Given the description of an element on the screen output the (x, y) to click on. 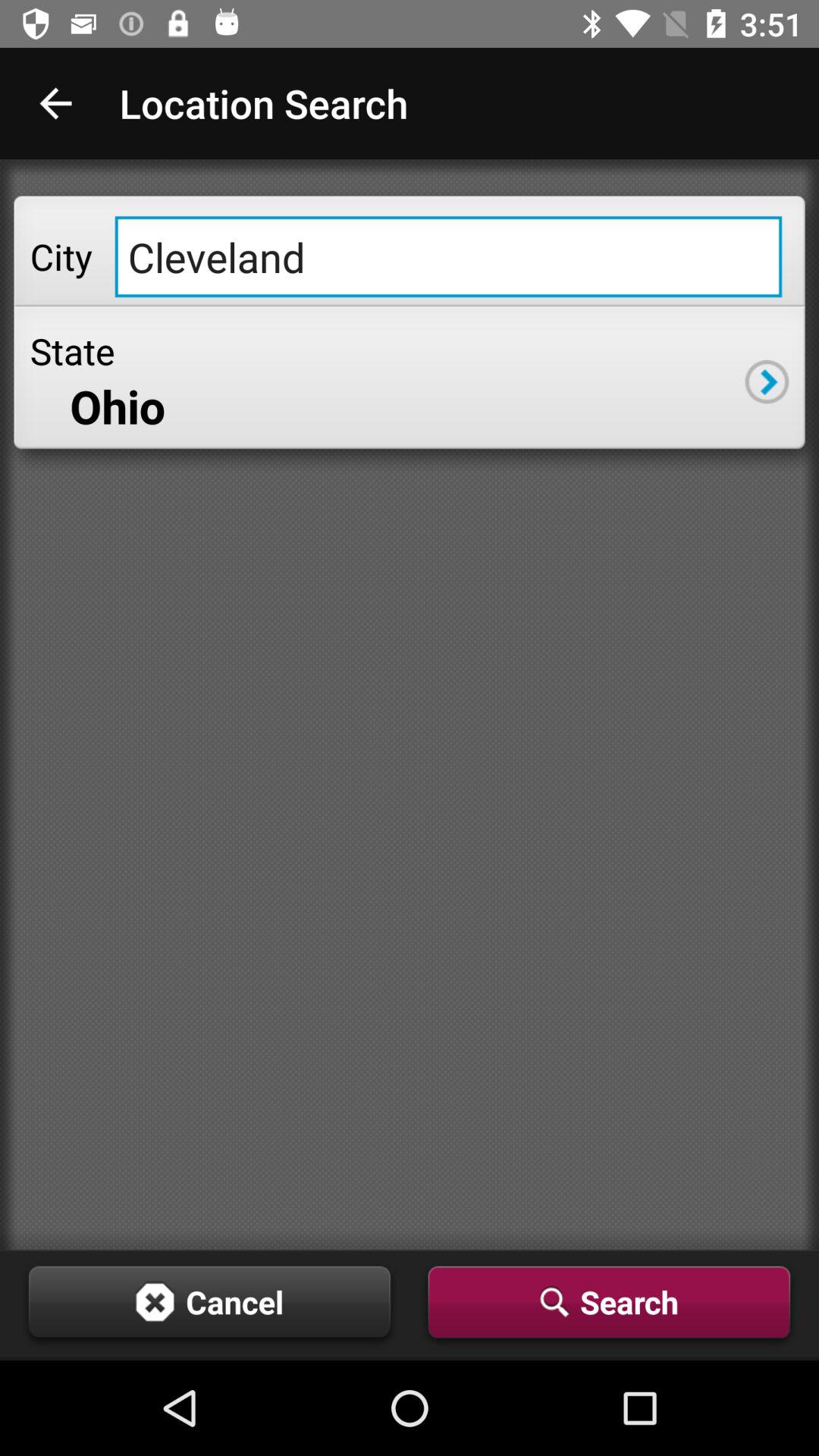
turn on the icon to the left of location search app (55, 103)
